Given the description of an element on the screen output the (x, y) to click on. 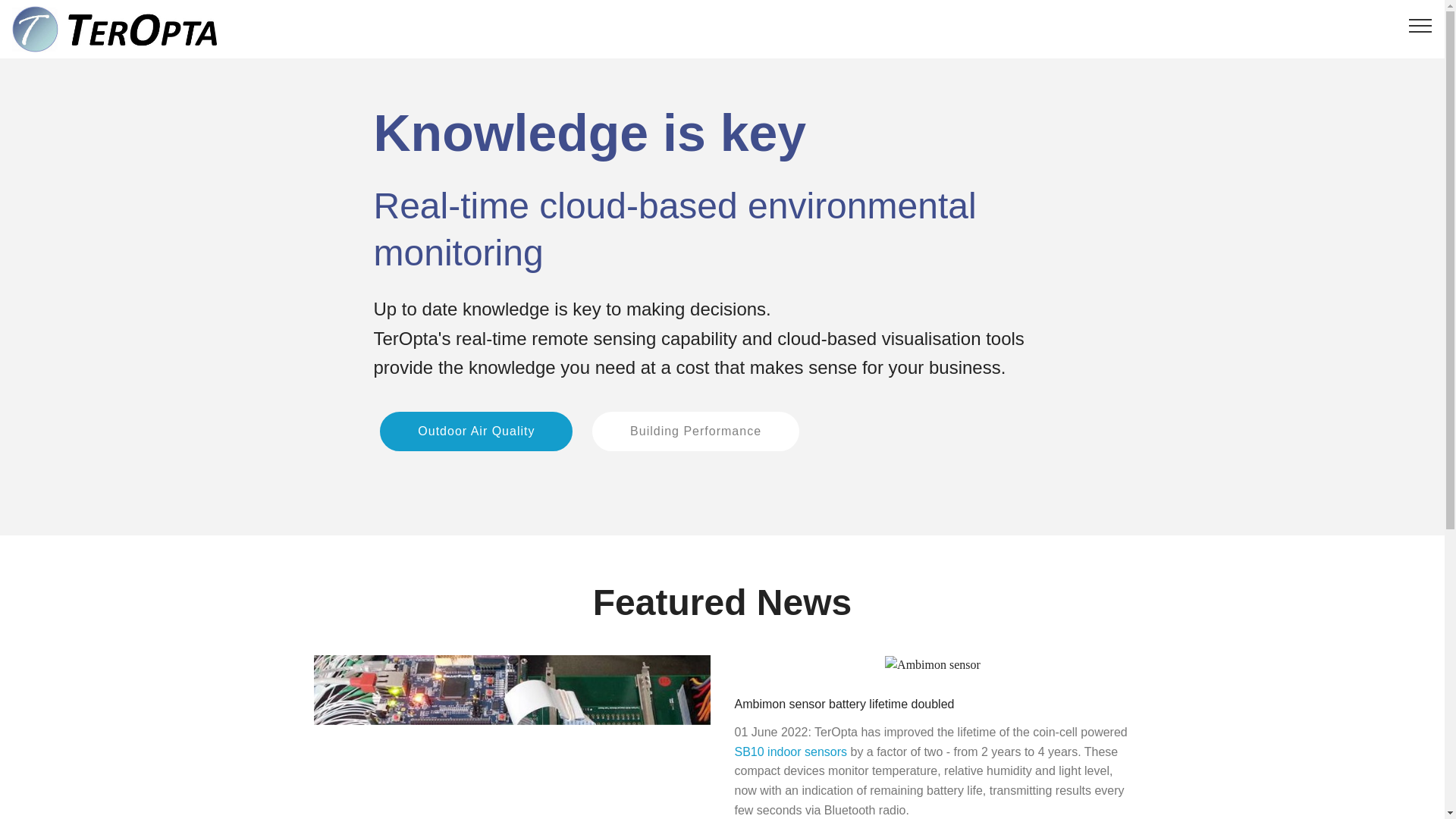
Building Performance (695, 431)
SB10 indoor sensors (790, 751)
Outdoor Air Quality (476, 431)
